Given the description of an element on the screen output the (x, y) to click on. 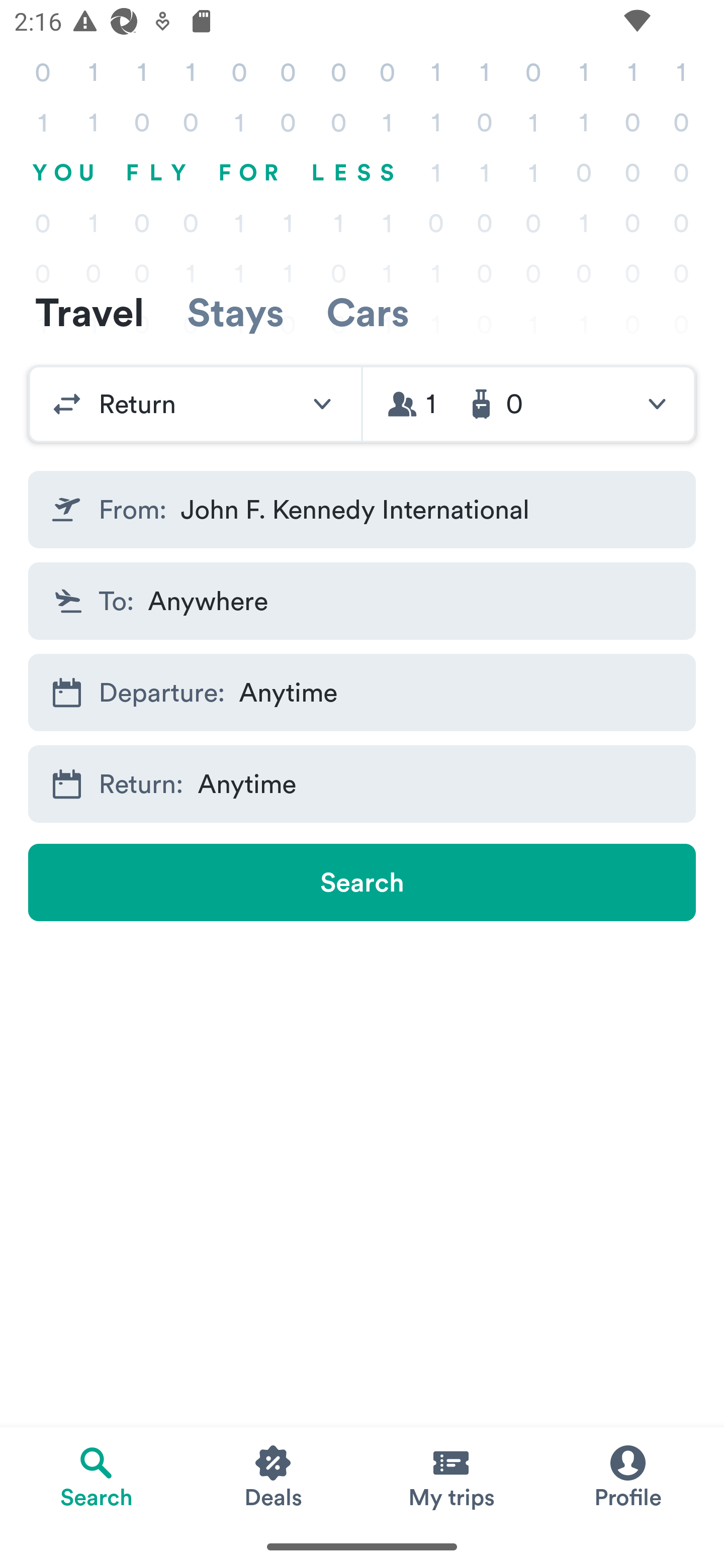
Travel (89, 311)
Stays (235, 311)
Cars (367, 311)
Return (194, 404)
Passengers 1 Bags 0 (528, 404)
From: John F. Kennedy International (361, 509)
To: Anywhere (361, 600)
Departure: Anytime (361, 692)
Return: Anytime (361, 783)
Search (361, 882)
Deals (273, 1475)
My trips (450, 1475)
Profile (627, 1475)
